Given the description of an element on the screen output the (x, y) to click on. 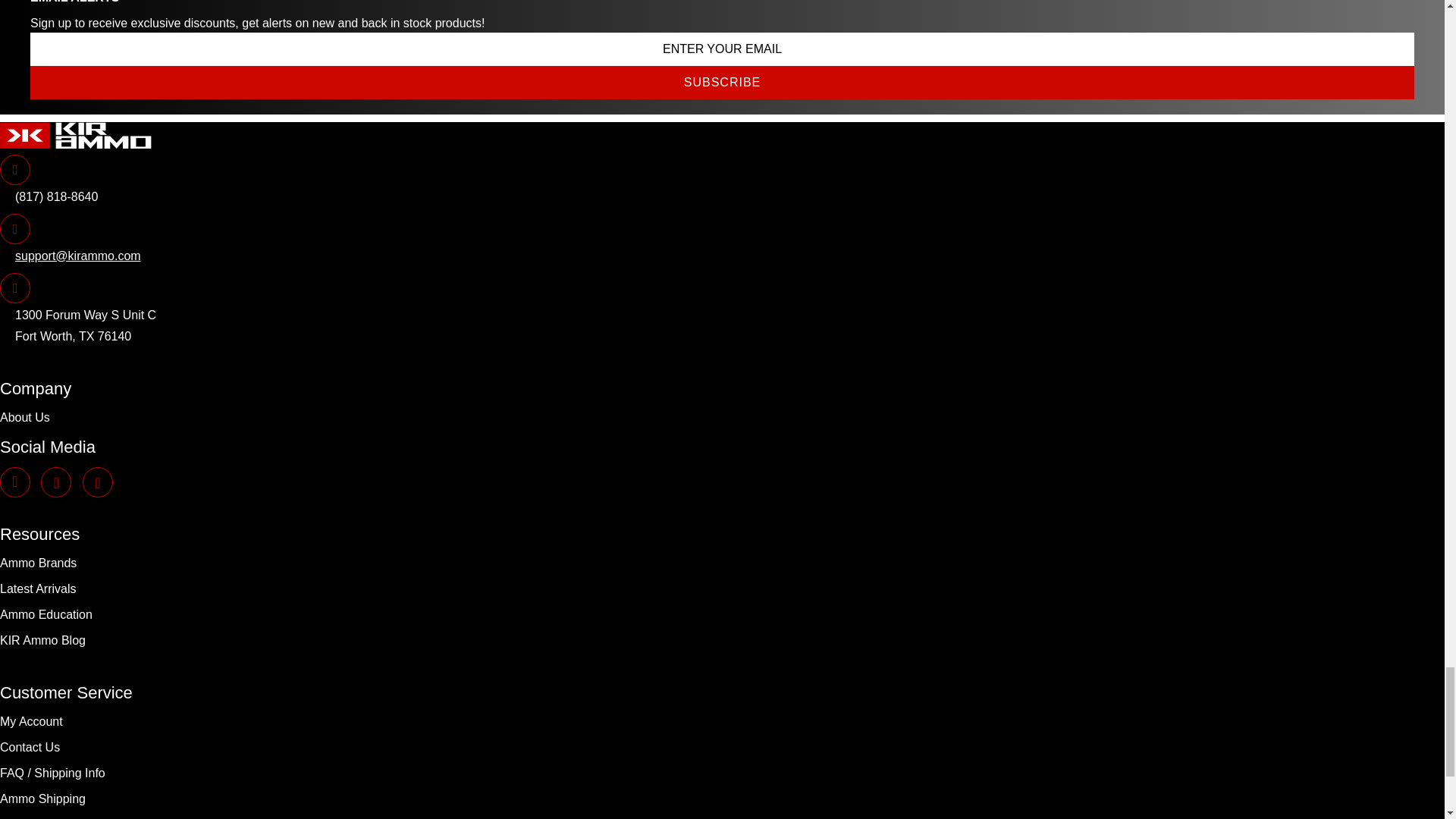
KIR Ammo on Facebook (55, 478)
KIR Ammo (75, 135)
Call KIR Ammo (48, 196)
Email KIR Ammo (70, 255)
KIR Ammo on Instagram (15, 478)
Subscribe (721, 82)
KIR Ammo on X (97, 478)
